Given the description of an element on the screen output the (x, y) to click on. 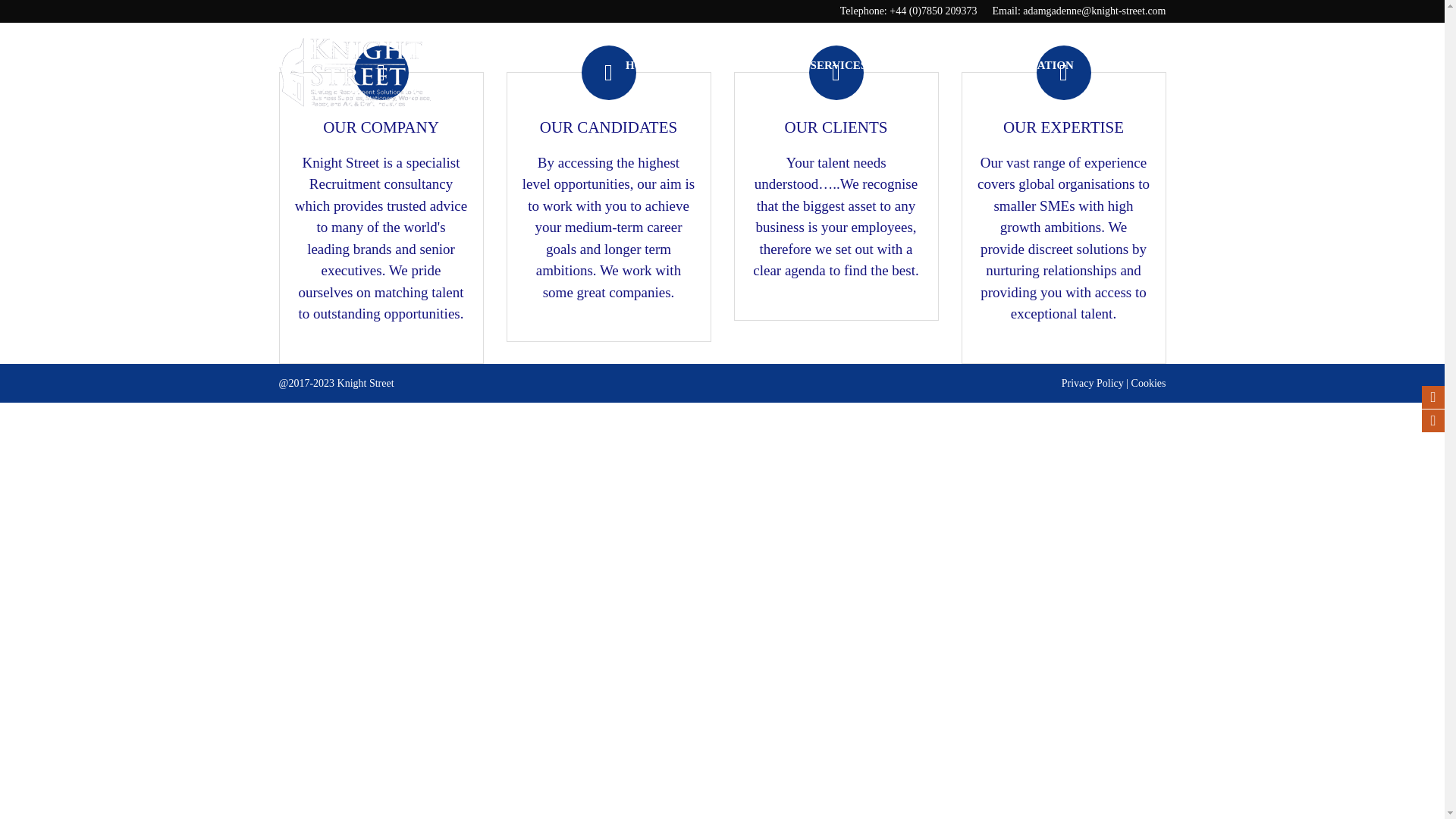
Privacy Policy (1092, 383)
OUR REPUTATION (1022, 65)
CONTACT US (1129, 65)
HOME (644, 65)
OUR CULTURE (720, 65)
Cookies (1148, 383)
OUR STORY (918, 65)
OUR SERVICES (825, 65)
